Given the description of an element on the screen output the (x, y) to click on. 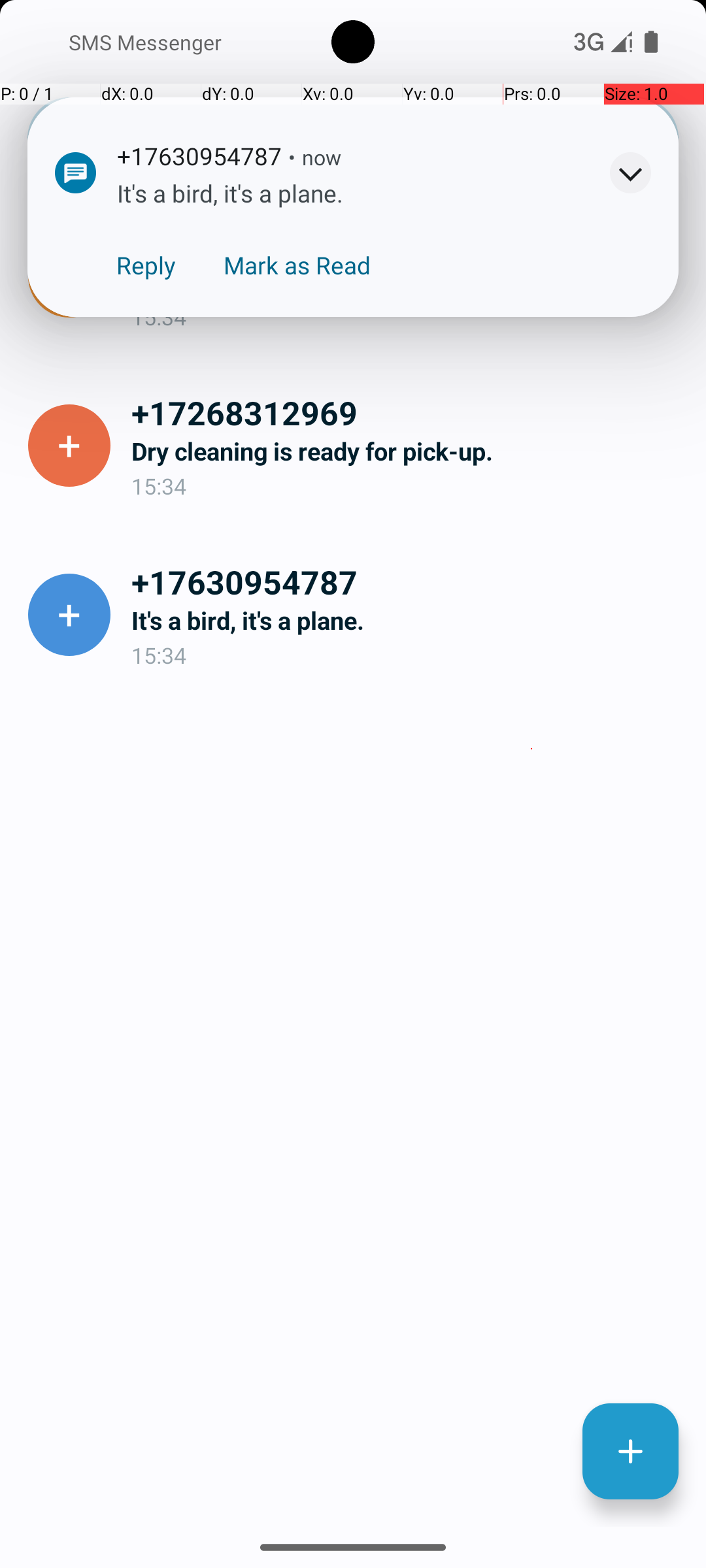
+14043541061 Element type: android.widget.TextView (408, 242)
Yoga class every Tuesday and Thursday at 6 PM. Element type: android.widget.TextView (408, 281)
+17268312969 Element type: android.widget.TextView (408, 412)
Dry cleaning is ready for pick-up. Element type: android.widget.TextView (408, 450)
+17630954787 Element type: android.widget.TextView (408, 581)
It's a bird, it's a plane. Element type: android.widget.TextView (408, 620)
SMS Messenger Element type: android.widget.TextView (139, 42)
On Element type: android.widget.Switch (186, 40)
Off Element type: android.widget.Switch (518, 40)
Expand Element type: android.widget.Button (630, 172)
Reply Element type: android.widget.Button (146, 265)
Mark as Read Element type: android.widget.Button (296, 265)
• Element type: android.widget.TextView (291, 157)
now Element type: android.widget.TextView (321, 157)
Alerted Element type: android.widget.ImageView (361, 158)
